Given the description of an element on the screen output the (x, y) to click on. 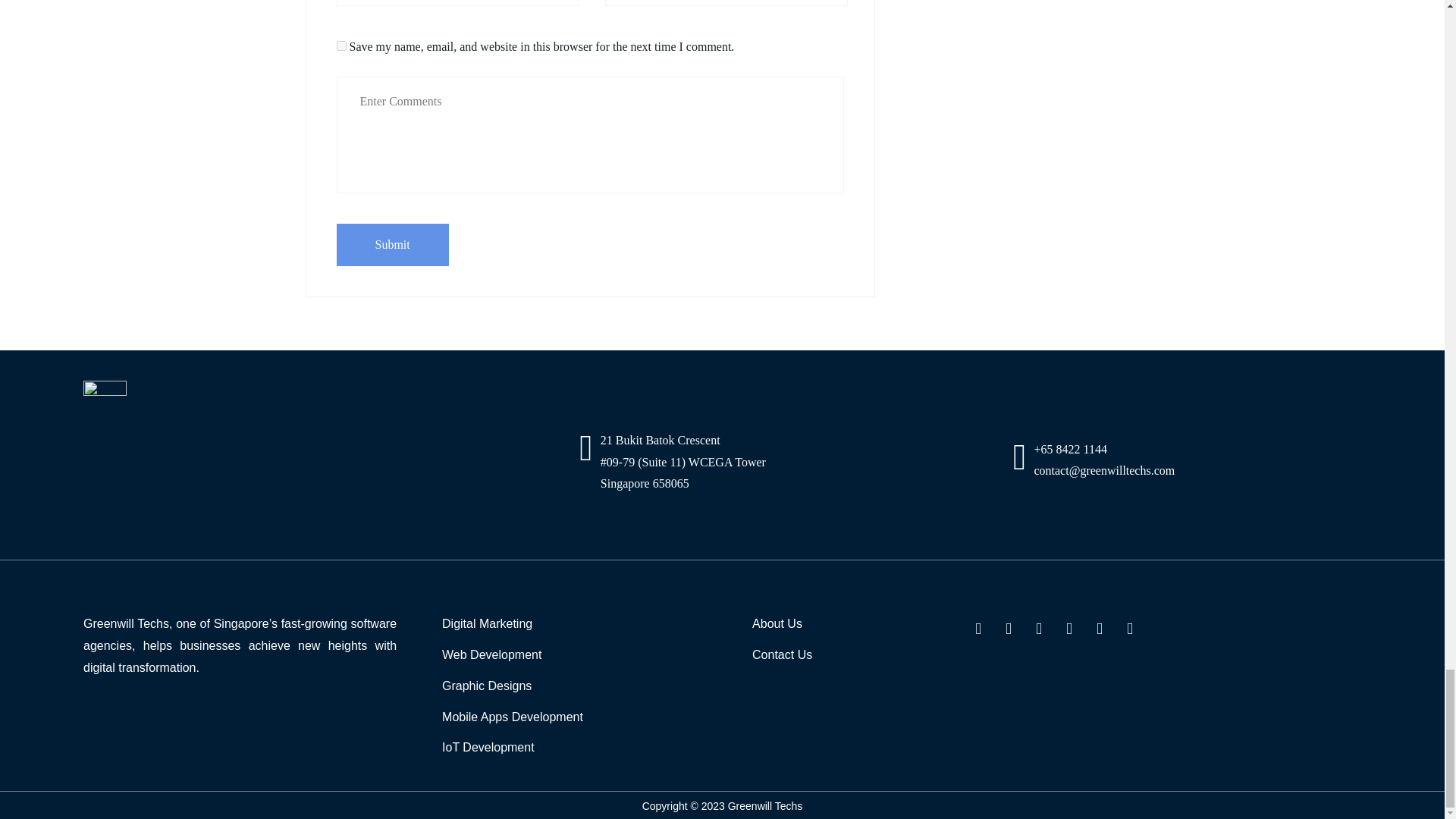
yes (341, 45)
Submit (392, 244)
